Given the description of an element on the screen output the (x, y) to click on. 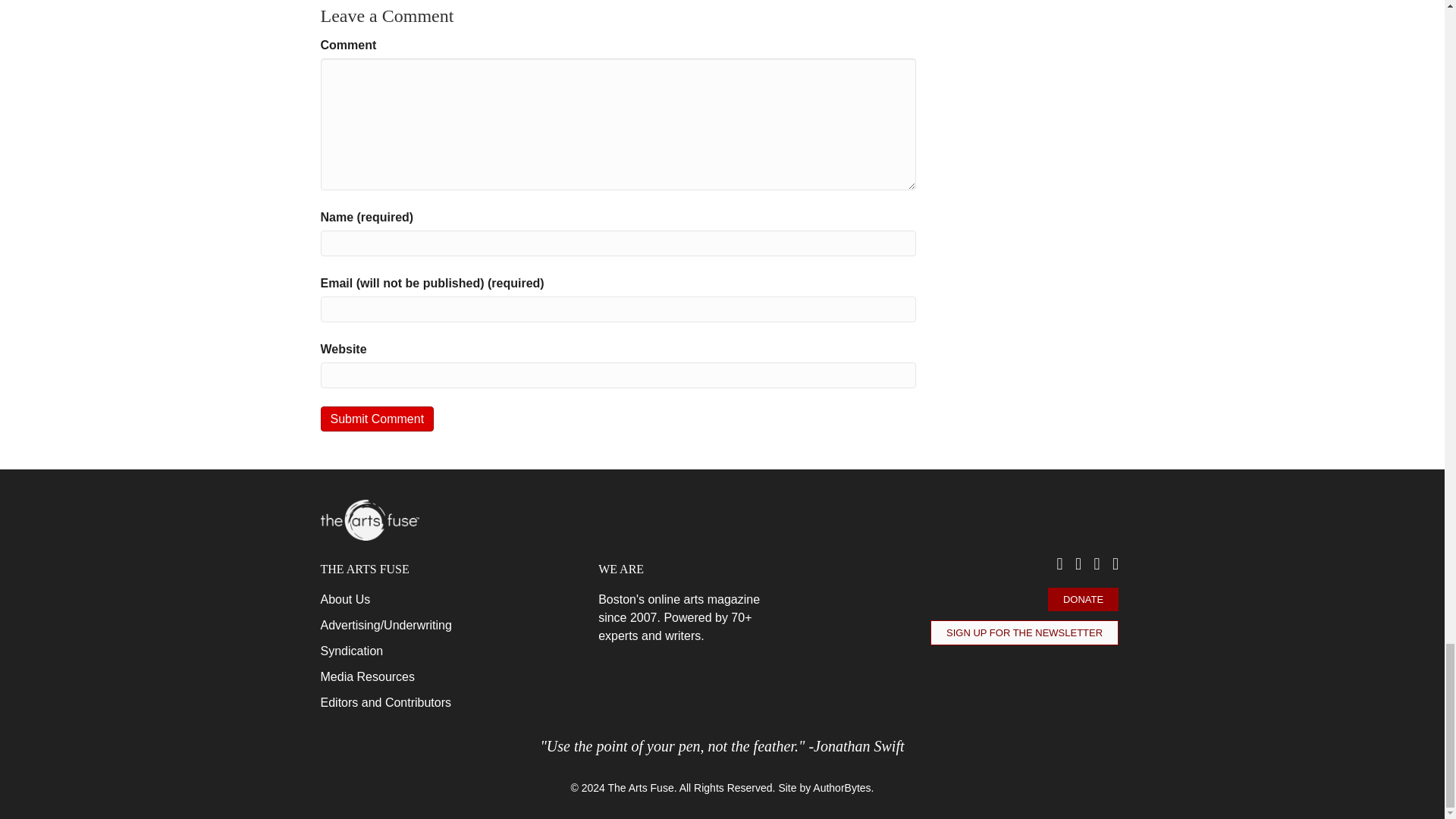
Submit Comment (376, 418)
